Given the description of an element on the screen output the (x, y) to click on. 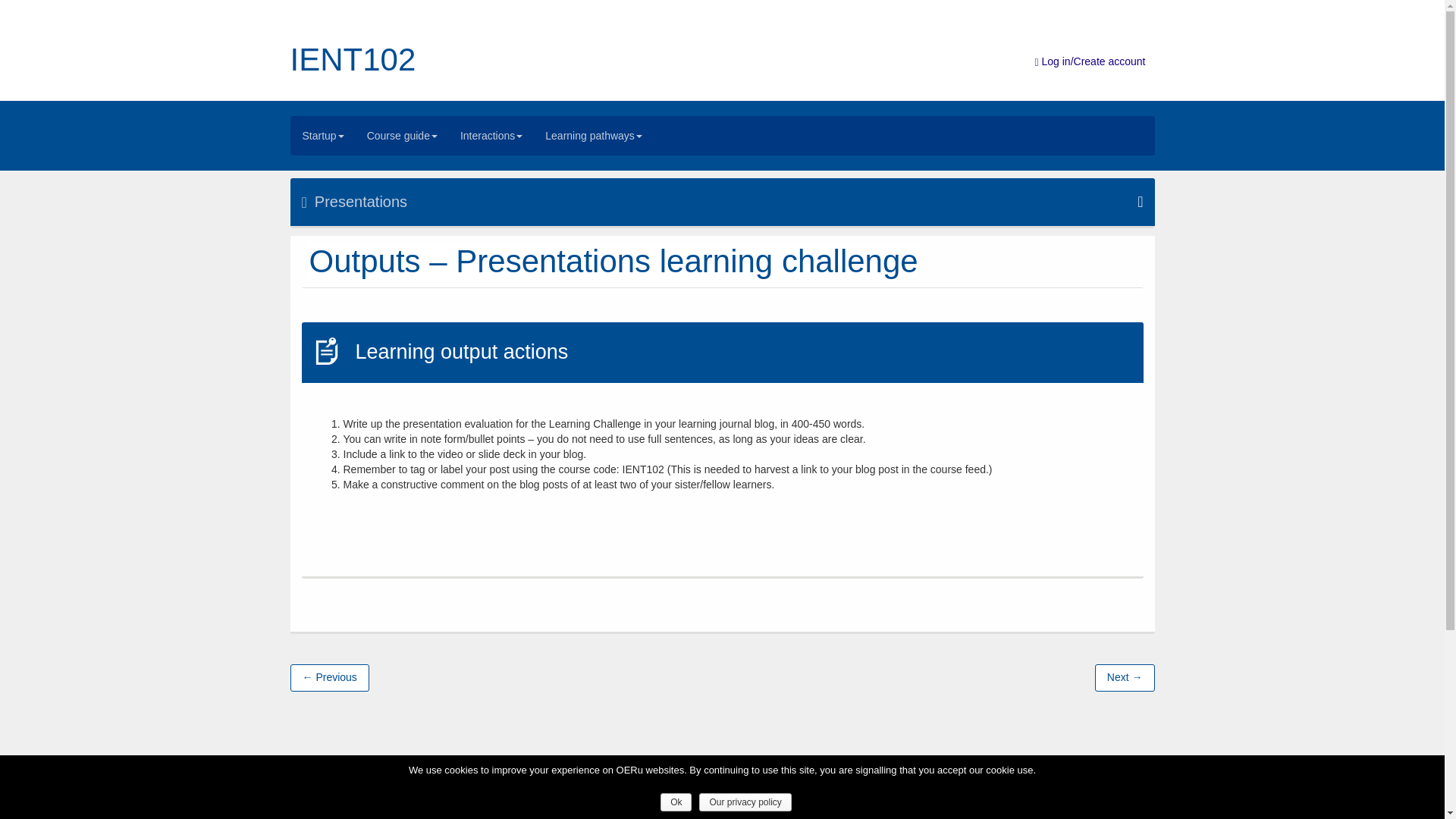
IENT102 (351, 58)
Course guide (401, 135)
Learning pathways (593, 135)
Register or Log into OERu! (1088, 61)
Presentations (721, 202)
Startup (323, 135)
Interactions (491, 135)
institution logo (436, 794)
